Given the description of an element on the screen output the (x, y) to click on. 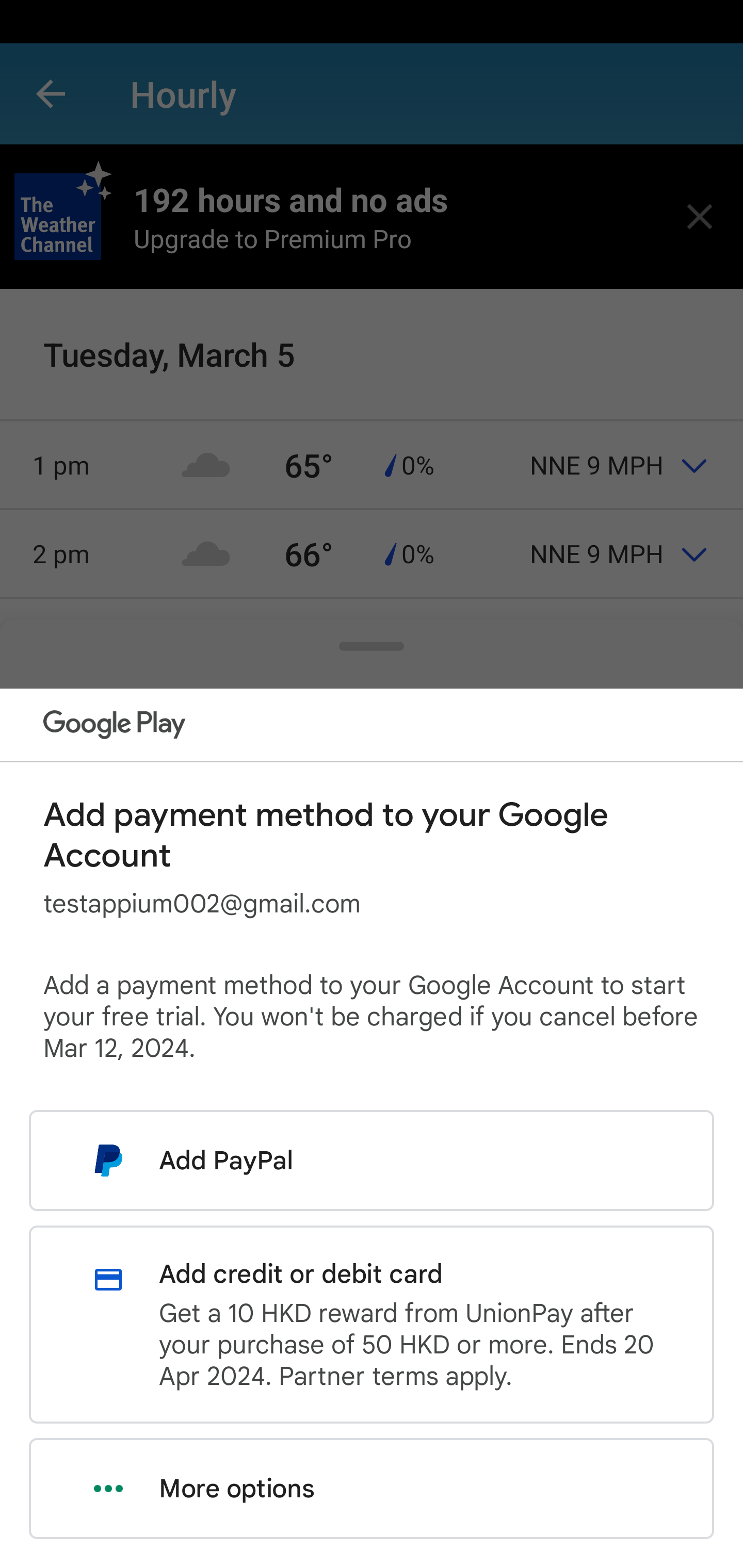
Add PayPal (371, 1160)
More options (371, 1488)
